Given the description of an element on the screen output the (x, y) to click on. 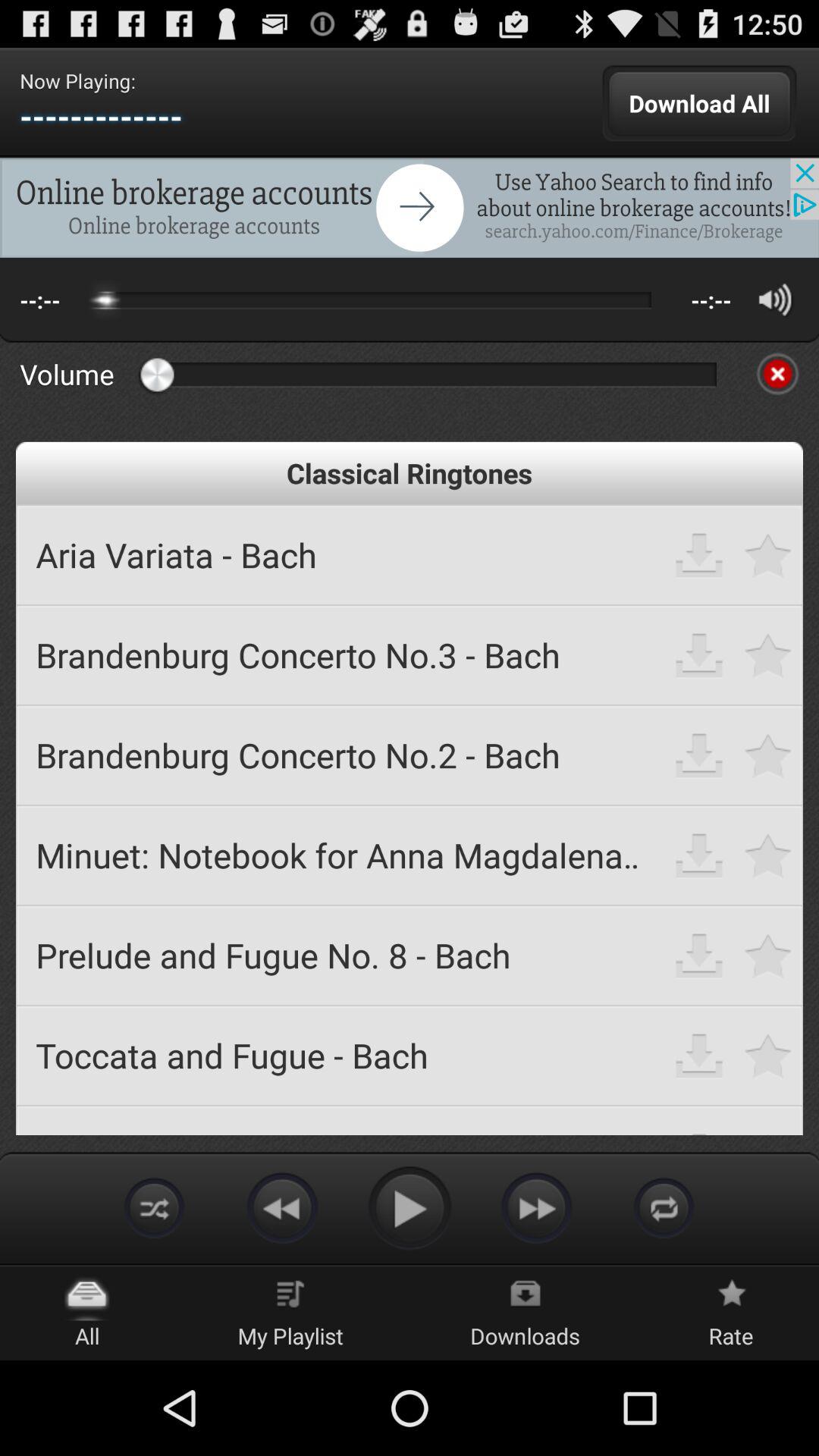
to make it as favorite ringtone (768, 554)
